Given the description of an element on the screen output the (x, y) to click on. 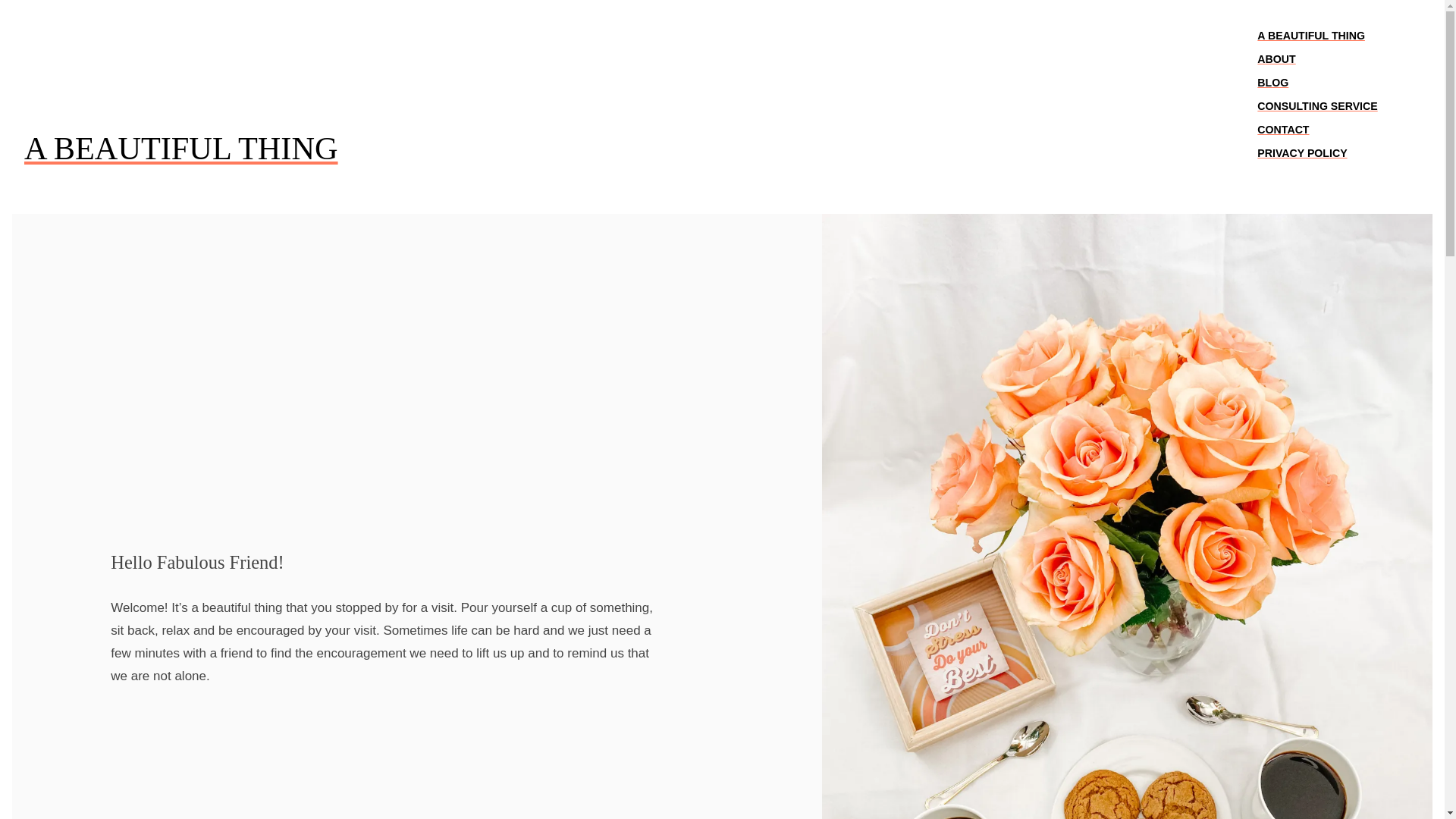
ABOUT Element type: text (1317, 59)
PRIVACY POLICY Element type: text (1317, 153)
A BEAUTIFUL THING Element type: text (181, 148)
A BEAUTIFUL THING Element type: text (1317, 35)
BLOG Element type: text (1317, 82)
CONTACT Element type: text (1317, 129)
CONSULTING SERVICE Element type: text (1317, 106)
